Given the description of an element on the screen output the (x, y) to click on. 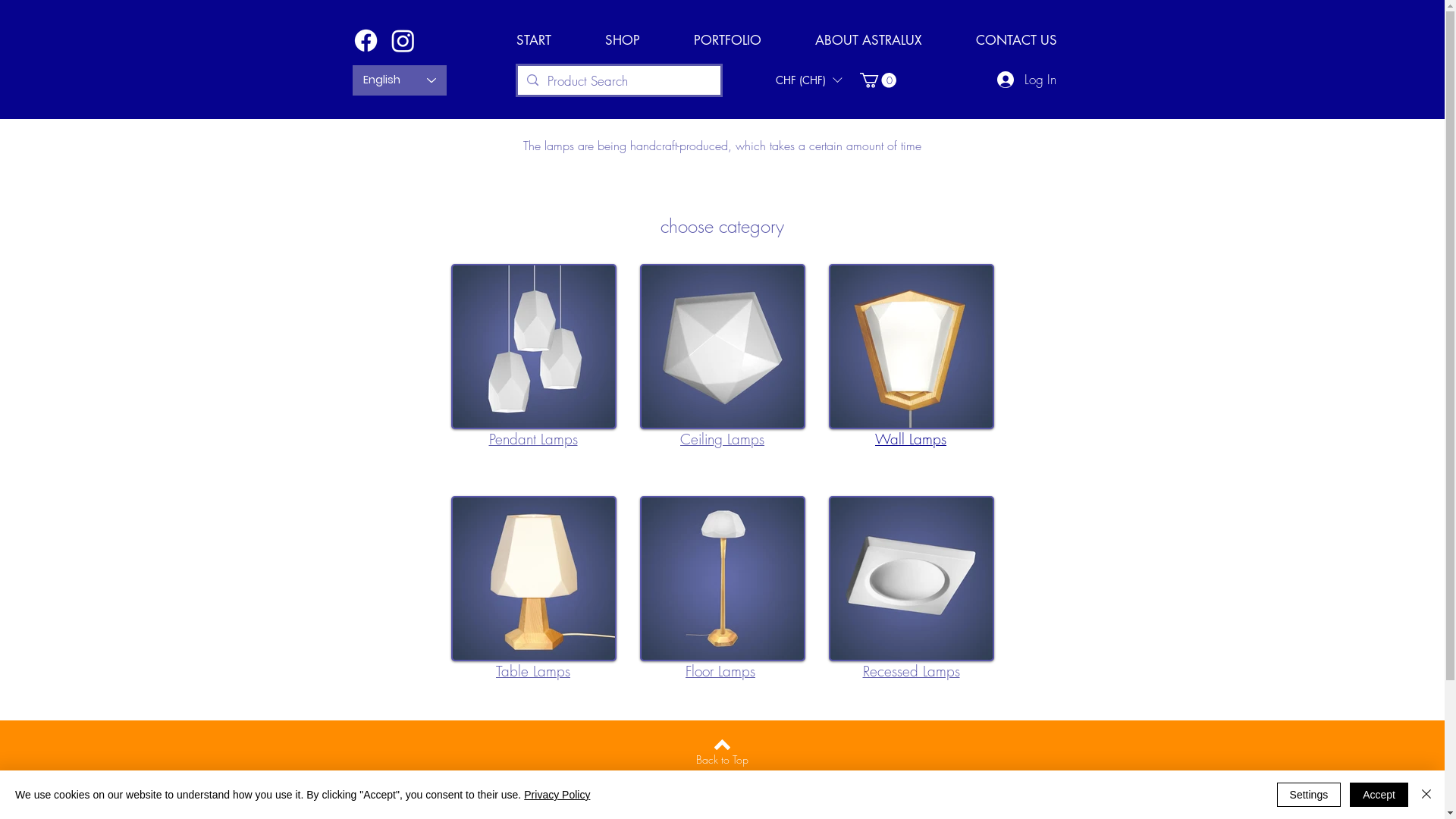
Wall Lamps Element type: text (910, 438)
choose category Element type: text (722, 225)
Click to see all Table Lamps Element type: hover (532, 578)
Click to see all Wall Lamps Element type: hover (910, 346)
SHOP Element type: text (622, 40)
Log In Element type: text (1025, 79)
Privacy Policy Element type: text (556, 794)
Click to see all Recessed Lamps Element type: hover (910, 578)
START Element type: text (534, 40)
Table Lamps Element type: text (532, 670)
CHF (CHF) Element type: text (808, 80)
PORTFOLIO Element type: text (727, 40)
Settings Element type: text (1309, 794)
Back to top Element type: hover (722, 744)
Click to see all Pendant Lamps Element type: hover (532, 346)
Click to see all Ceiling Lamps Element type: hover (722, 346)
Click to see all Floor Lamps Element type: hover (722, 578)
Accept Element type: text (1378, 794)
Ceiling Lamps Element type: text (722, 438)
Floor Lamps Element type: text (720, 670)
ABOUT ASTRALUX Element type: text (868, 40)
Pendant Lamps Element type: text (532, 438)
Back to Top Element type: text (721, 759)
Terms of Service Element type: text (721, 784)
0 Element type: text (877, 79)
CONTACT US Element type: text (1016, 40)
Privacy Policy Element type: text (722, 806)
Recessed Lamps Element type: text (911, 670)
